Given the description of an element on the screen output the (x, y) to click on. 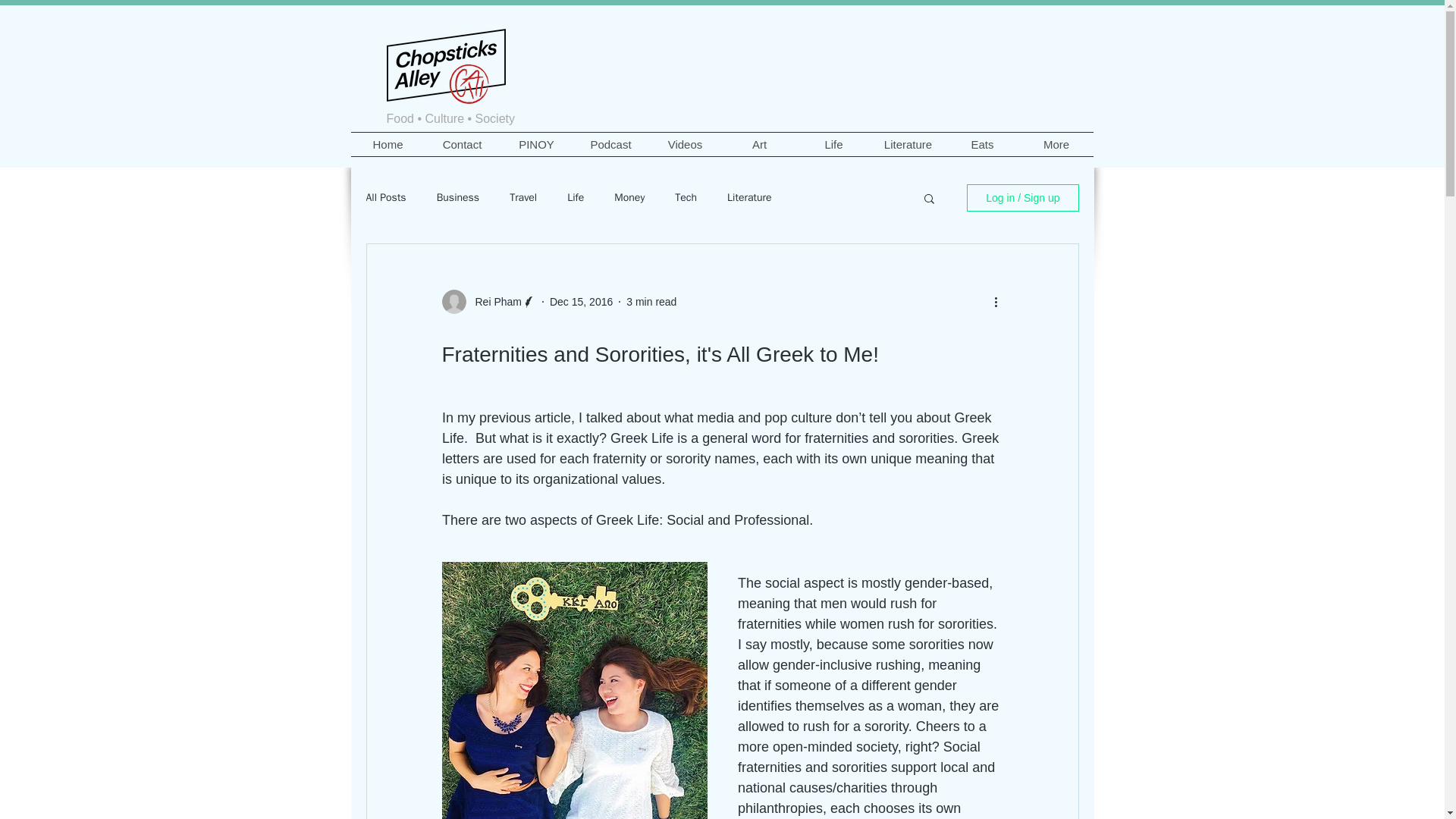
Home (387, 144)
Life (833, 144)
Eats (981, 144)
PINOY (536, 144)
3 min read (651, 301)
Art (759, 144)
Rei Pham (493, 302)
Contact (462, 144)
Videos (684, 144)
Dec 15, 2016 (581, 301)
